Given the description of an element on the screen output the (x, y) to click on. 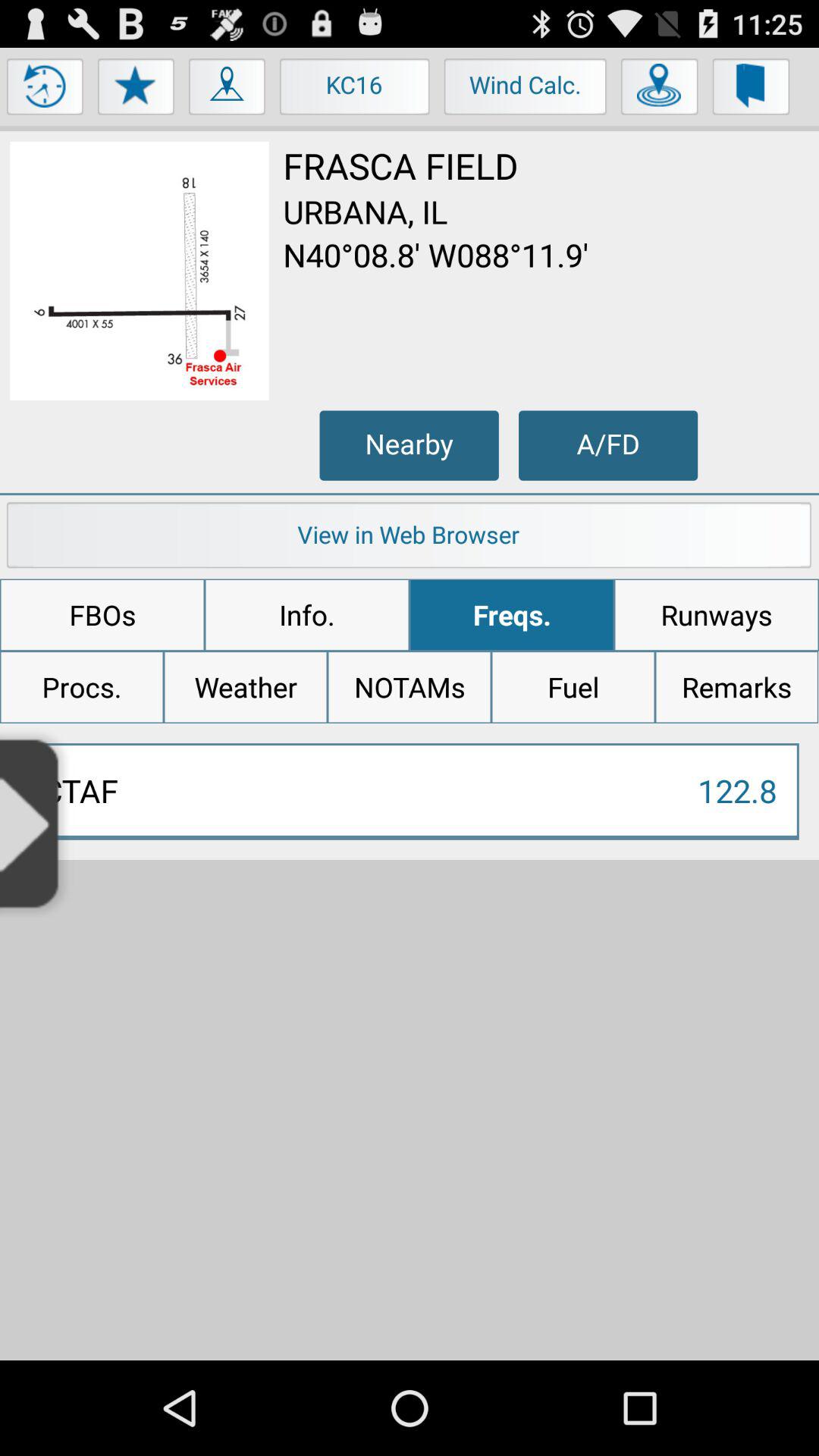
tap icon next to the notams icon (245, 687)
